Given the description of an element on the screen output the (x, y) to click on. 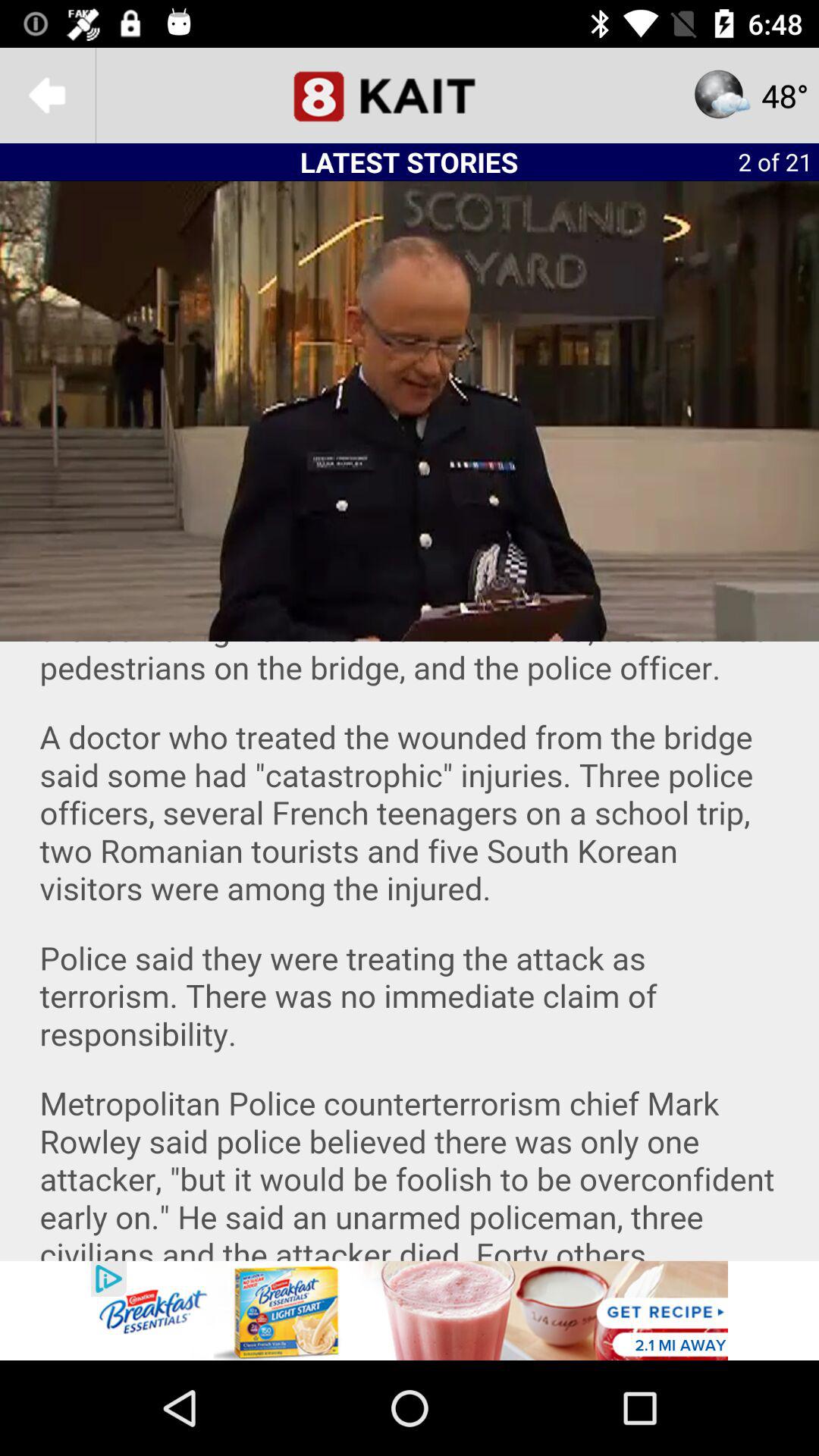
go to homepage (409, 95)
